Given the description of an element on the screen output the (x, y) to click on. 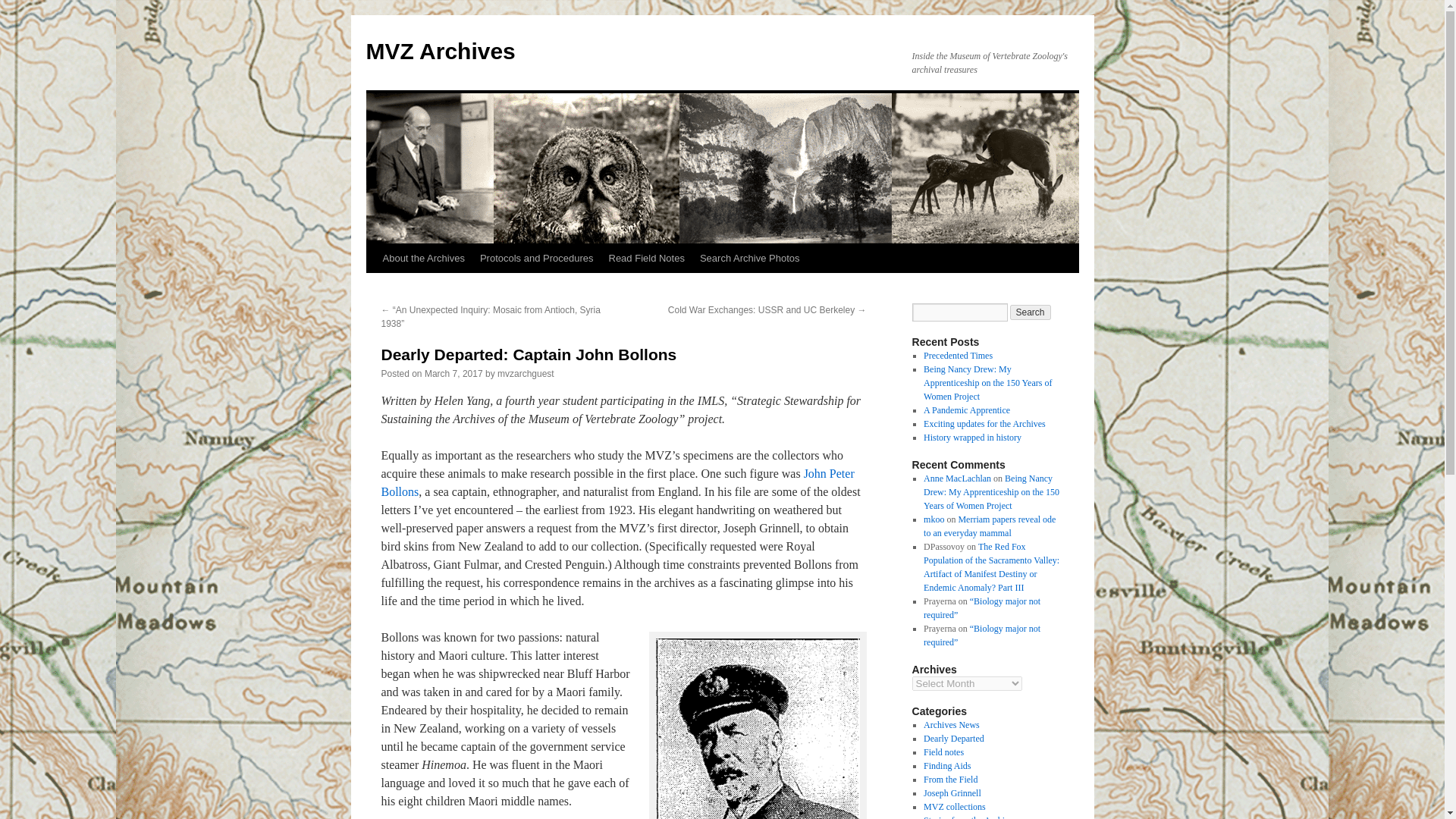
John Peter Bollons (616, 481)
mkoo (933, 519)
Search (1030, 312)
View all posts by mvzarchguest (525, 373)
A Pandemic Apprentice (966, 409)
MVZ Archives (440, 50)
Read Field Notes (645, 258)
Dearly Departed (953, 738)
About the Archives (422, 258)
Anne MacLachlan (957, 478)
MVZ Archives (440, 50)
Search (1030, 312)
Protocols and Procedures (536, 258)
